Given the description of an element on the screen output the (x, y) to click on. 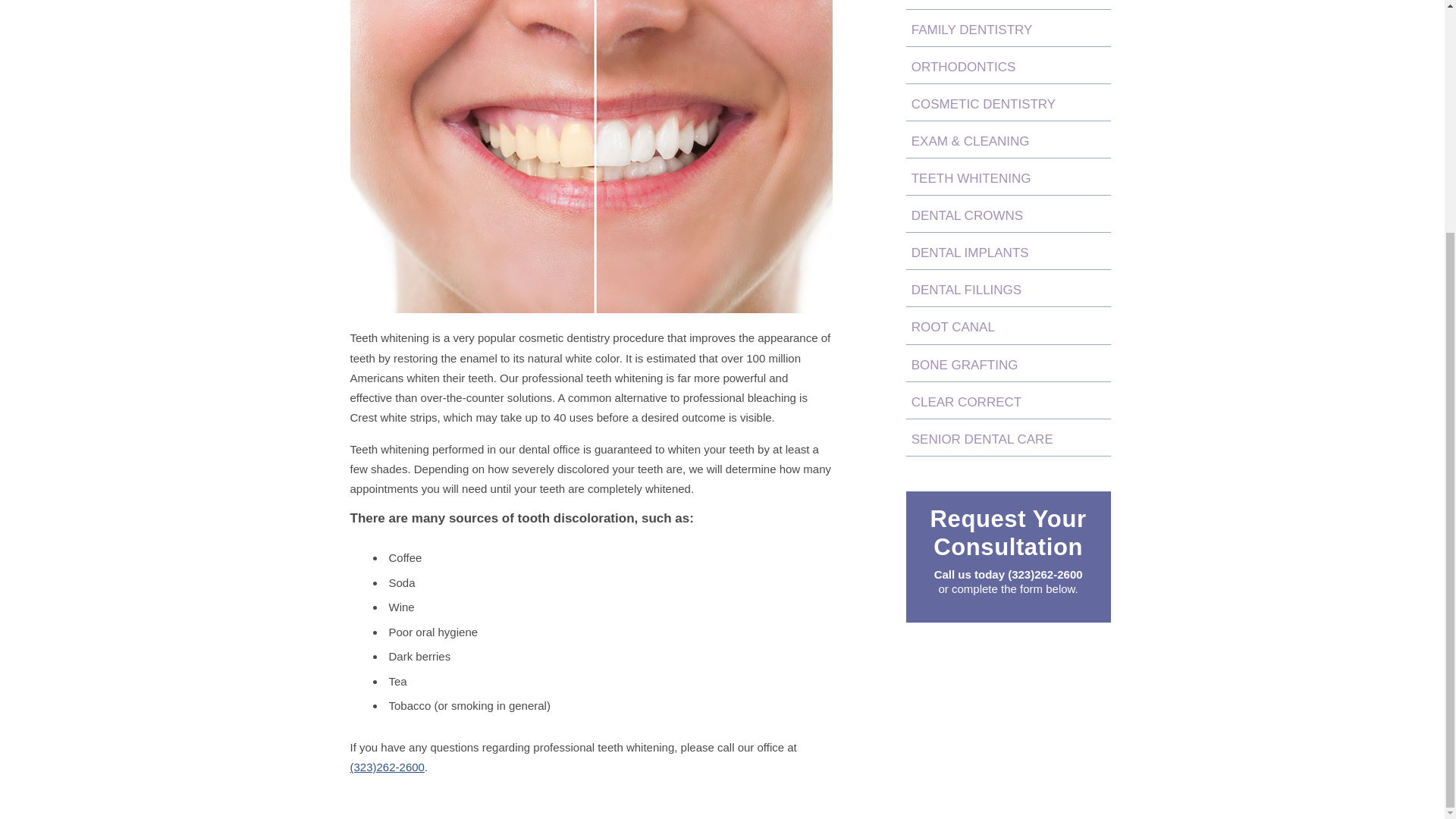
TEETH WHITENING (1007, 176)
FAMILY DENTISTRY (1007, 27)
DENTAL FILLINGS (1007, 288)
ROOT CANAL (1007, 325)
COSMETIC DENTISTRY (1007, 102)
DENTAL IMPLANTS (1007, 250)
DENTAL CROWNS (1007, 213)
ORTHODONTICS (1007, 64)
GENERAL DENTISTRY (1007, 4)
